Given the description of an element on the screen output the (x, y) to click on. 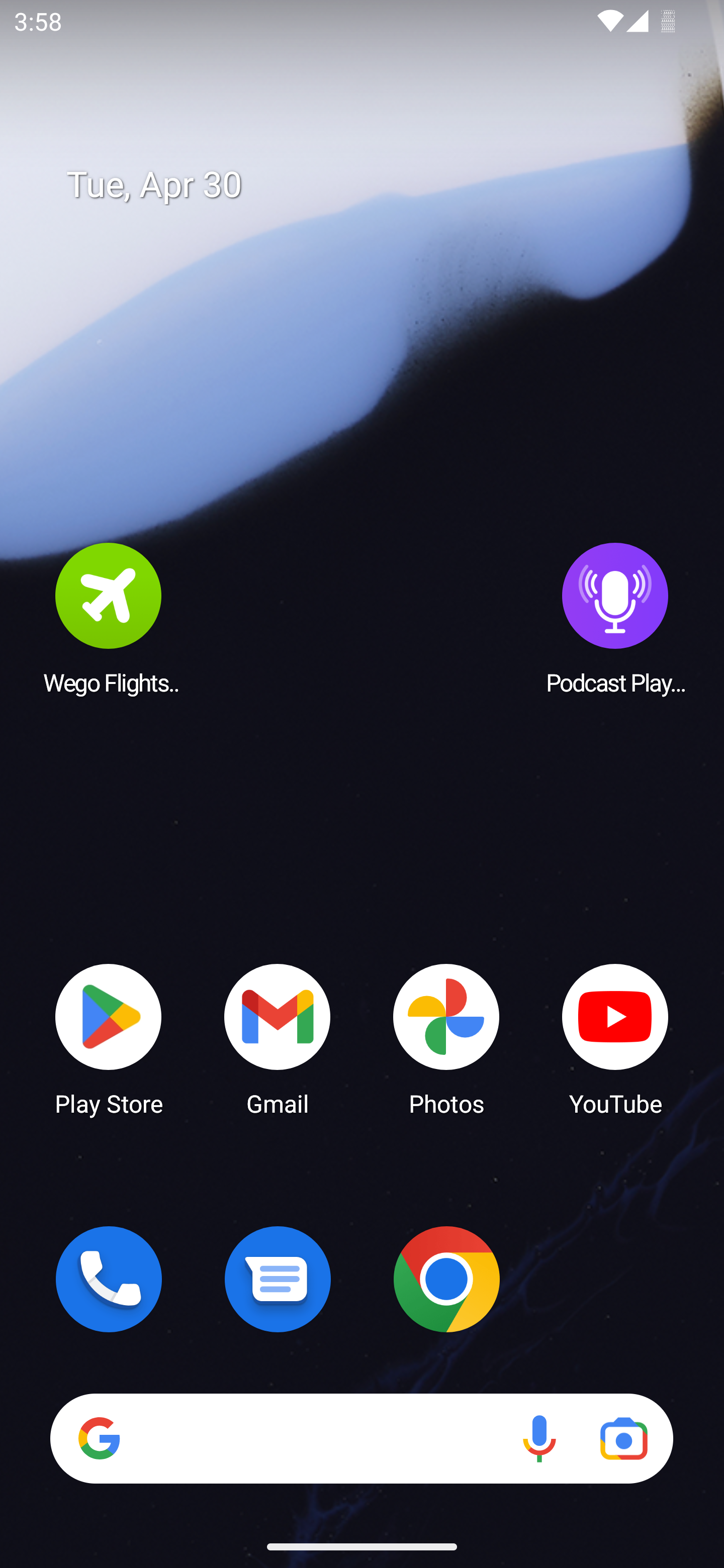
Tue, Apr 30 (375, 184)
Wego Flights & Hotels (108, 617)
Podcast Player (615, 617)
Play Store (108, 1038)
Gmail (277, 1038)
Photos (445, 1038)
YouTube (615, 1038)
Phone (108, 1279)
Messages (277, 1279)
Chrome (446, 1279)
Voice search (539, 1438)
Google Lens (623, 1438)
